Given the description of an element on the screen output the (x, y) to click on. 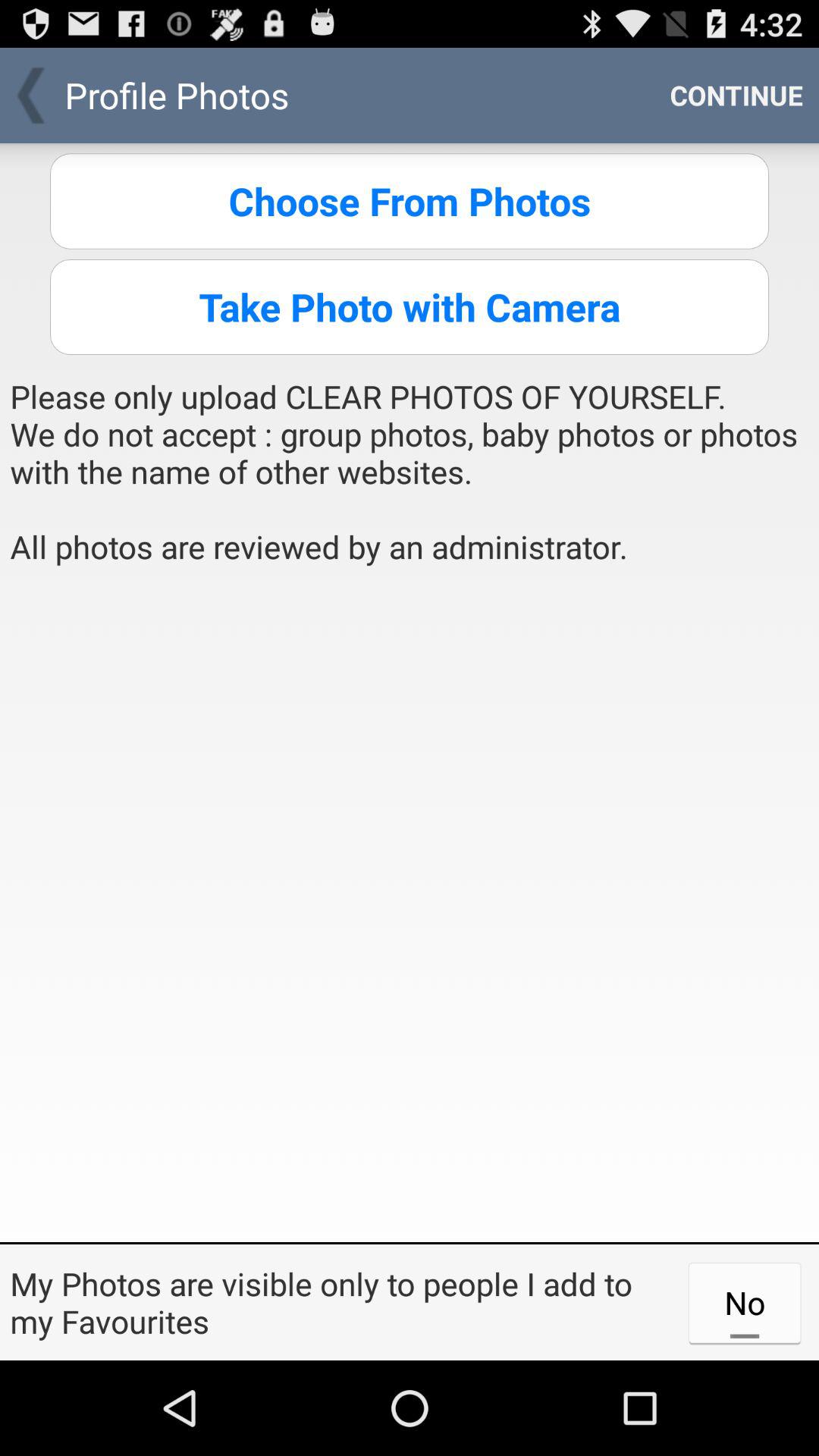
turn on the icon at the center (409, 910)
